Given the description of an element on the screen output the (x, y) to click on. 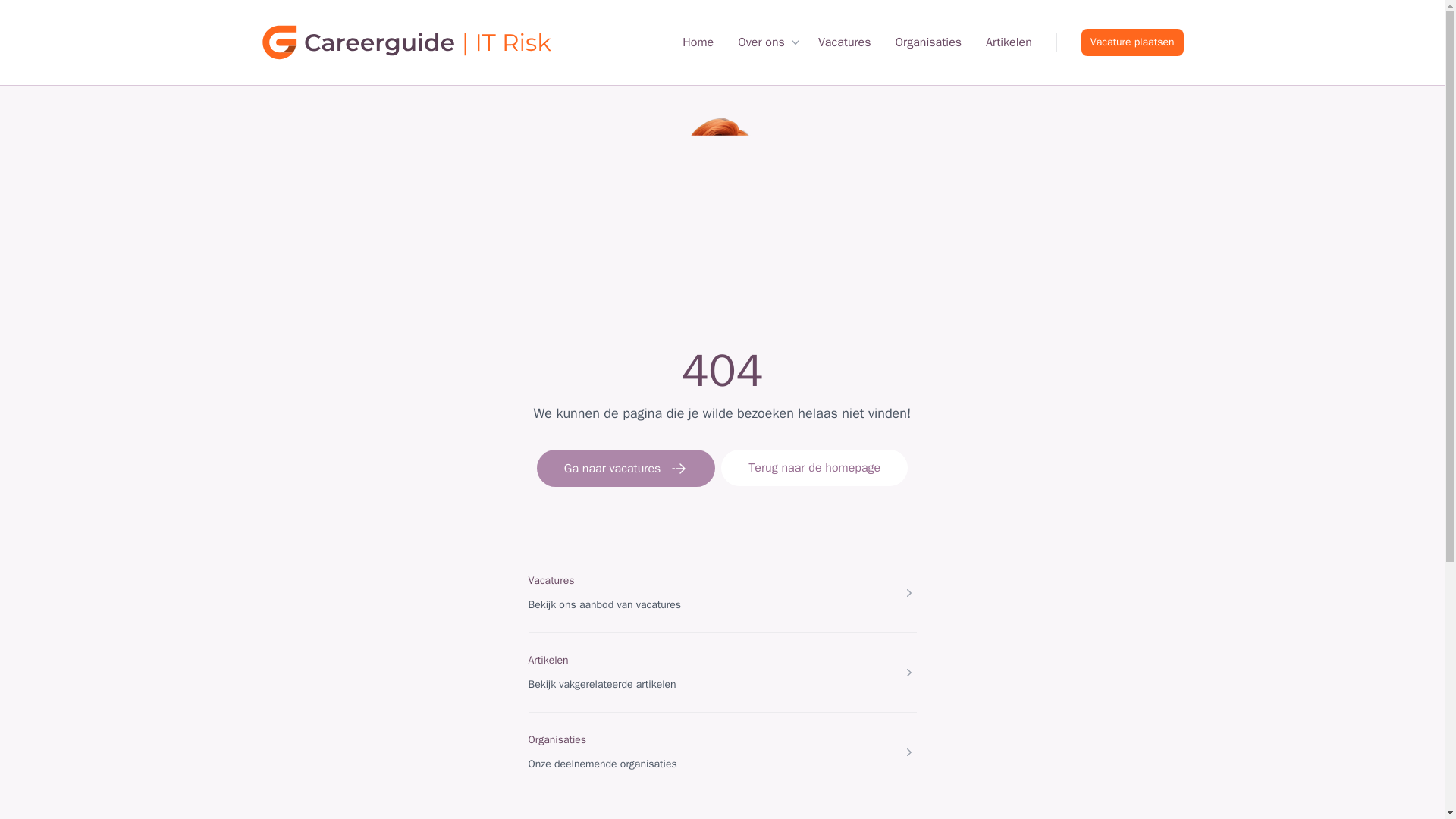
Artikelen (547, 659)
Vacature plaatsen (1132, 42)
Organisaties (556, 739)
Ga naar vacatures (625, 467)
Careerguide (417, 41)
Artikelen (1008, 42)
Organisaties (928, 42)
Home (697, 42)
Vacatures (550, 580)
Terug naar de homepage (813, 467)
Over ons (770, 42)
Vacatures (844, 42)
